Given the description of an element on the screen output the (x, y) to click on. 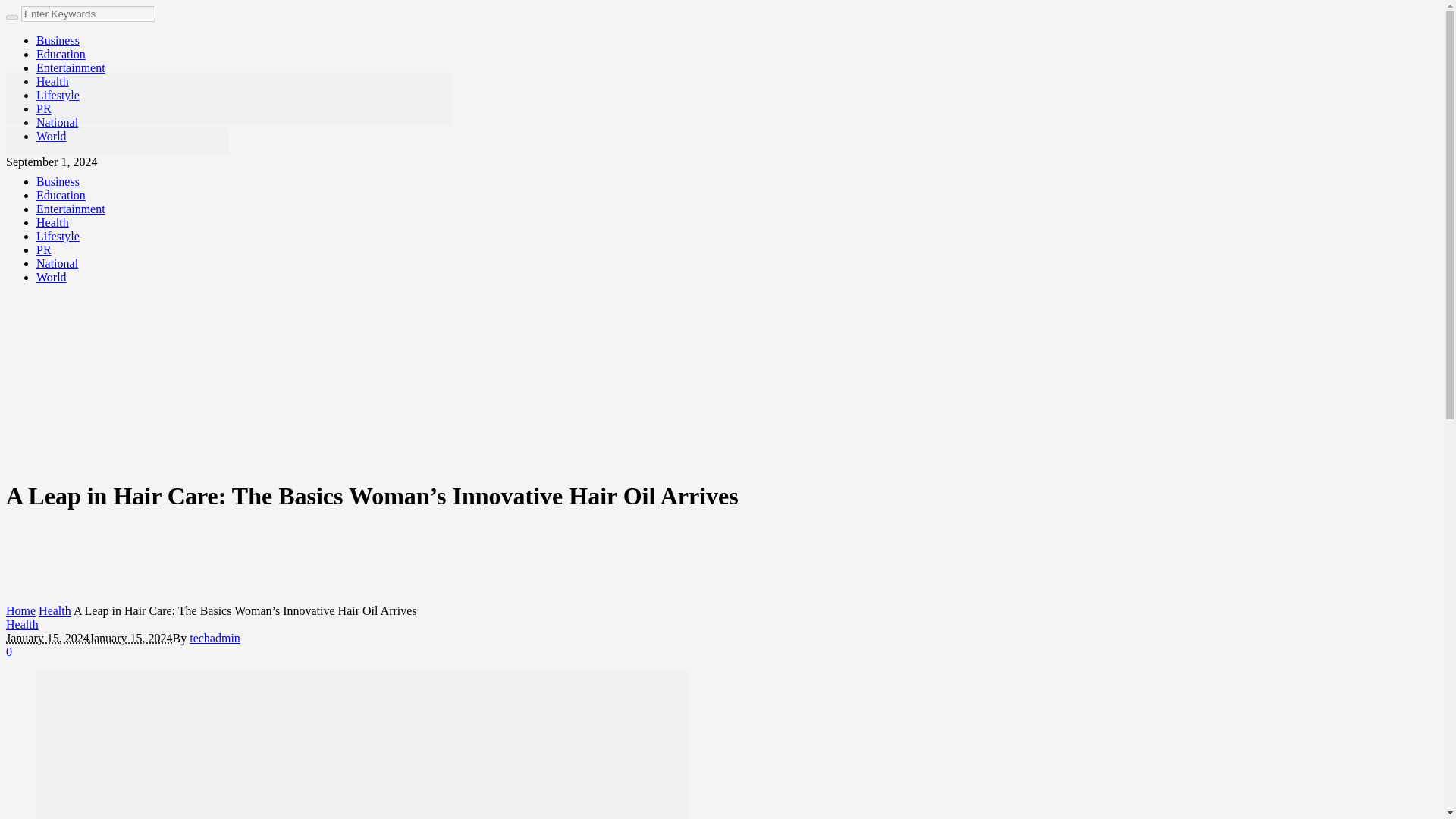
Zambia News Today (228, 135)
Entertainment (70, 67)
Lifestyle (58, 94)
techadmin (214, 637)
PR (43, 108)
Lifestyle (58, 236)
National (57, 263)
National (57, 122)
Education (60, 53)
Health (55, 610)
